Given the description of an element on the screen output the (x, y) to click on. 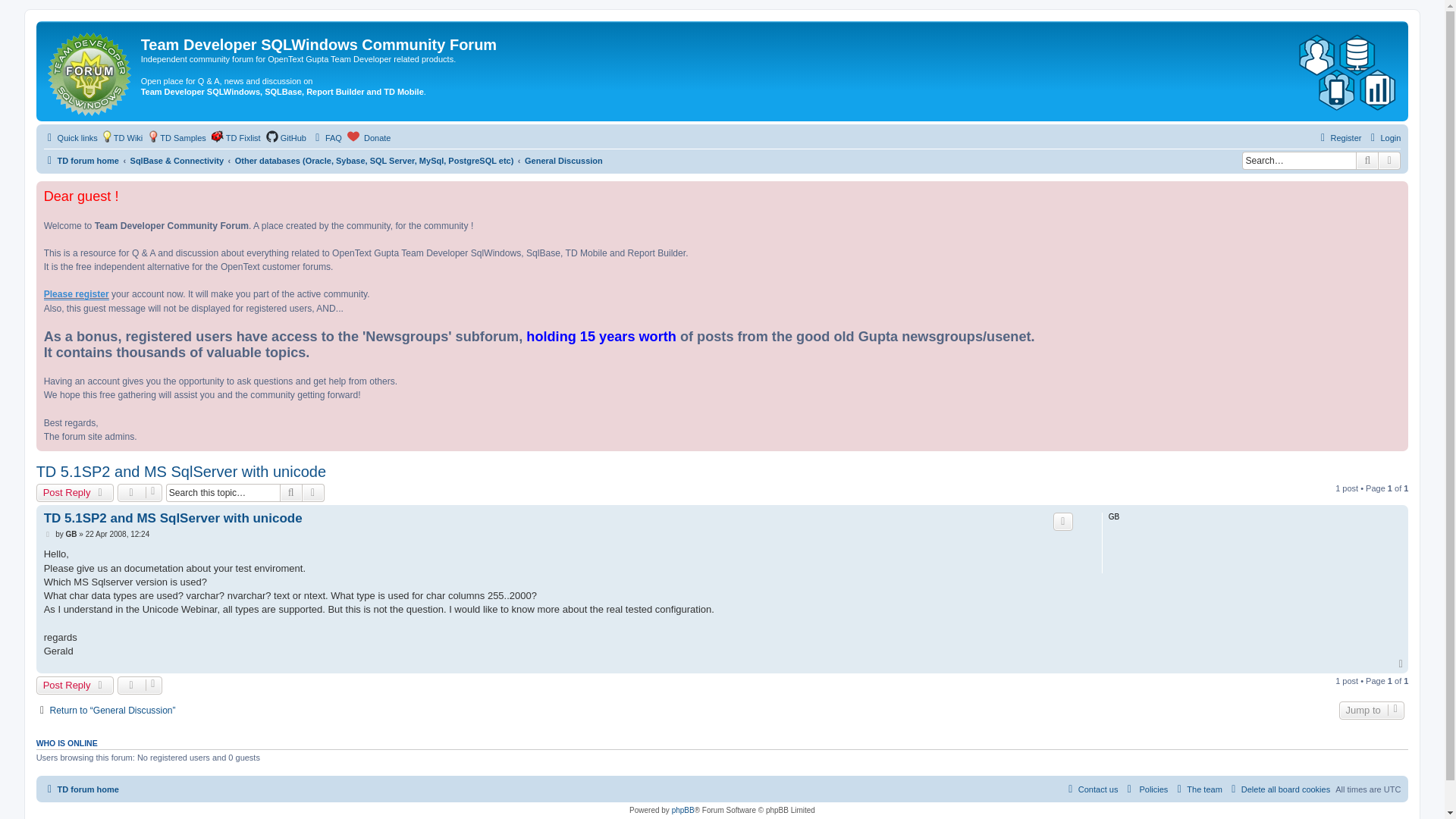
Quick links (70, 137)
Advanced search (1389, 160)
TD 5.1SP2 and MS SqlServer with unicode (181, 471)
FAQ (326, 137)
Donate (369, 137)
Post a reply (74, 493)
Login (1383, 137)
TD forum home (90, 71)
General Discussion (563, 160)
TD Community GitHub repositories (285, 137)
Search (1366, 160)
TD Wiki (121, 137)
Search for keywords (1298, 160)
TD 5.1SP2 and MS SqlServer with unicode (172, 518)
Search (290, 493)
